Given the description of an element on the screen output the (x, y) to click on. 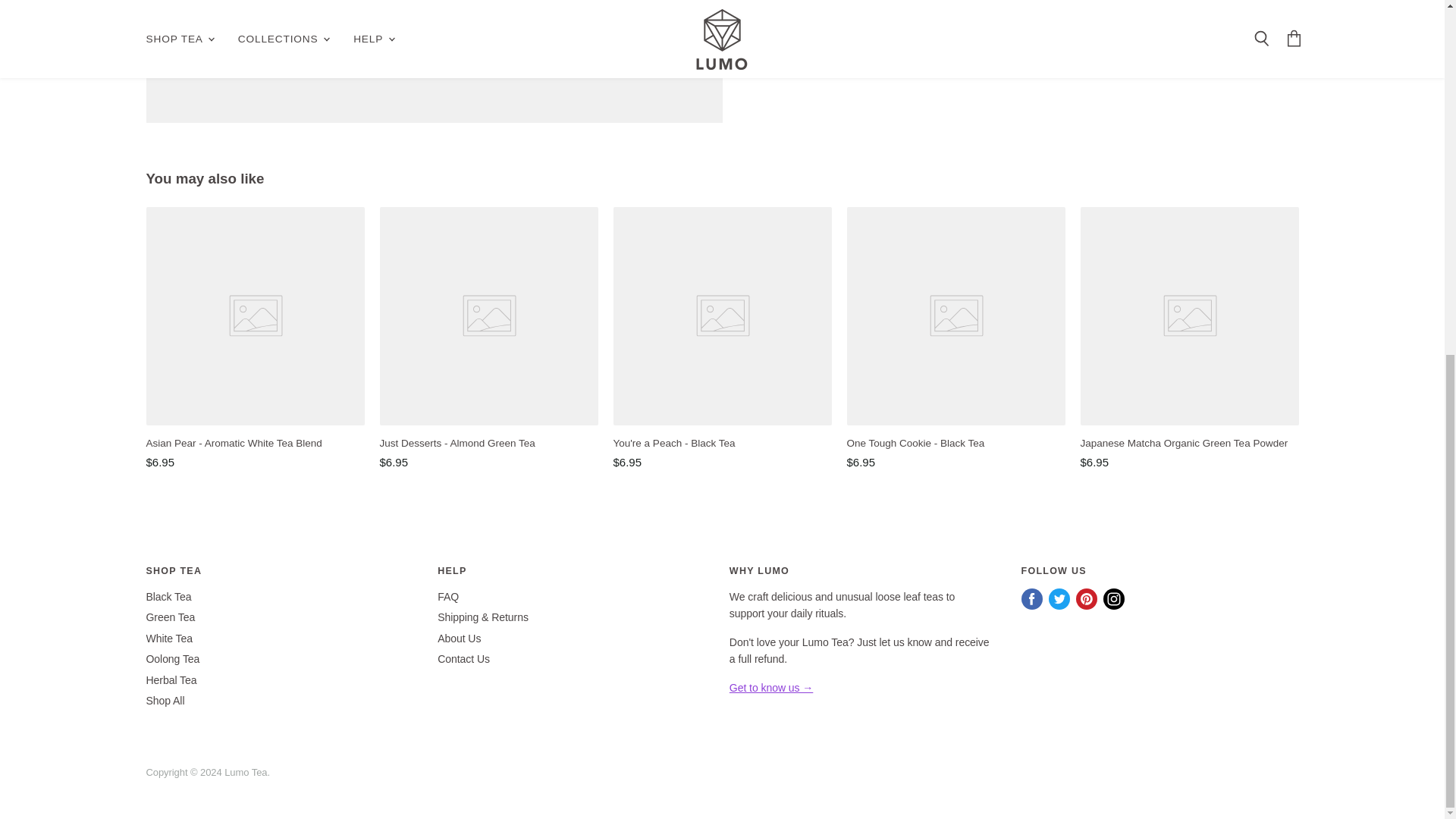
Facebook (1031, 598)
Pinterest (1086, 598)
About Us (770, 687)
Twitter (1059, 598)
Instagram (1113, 598)
